Given the description of an element on the screen output the (x, y) to click on. 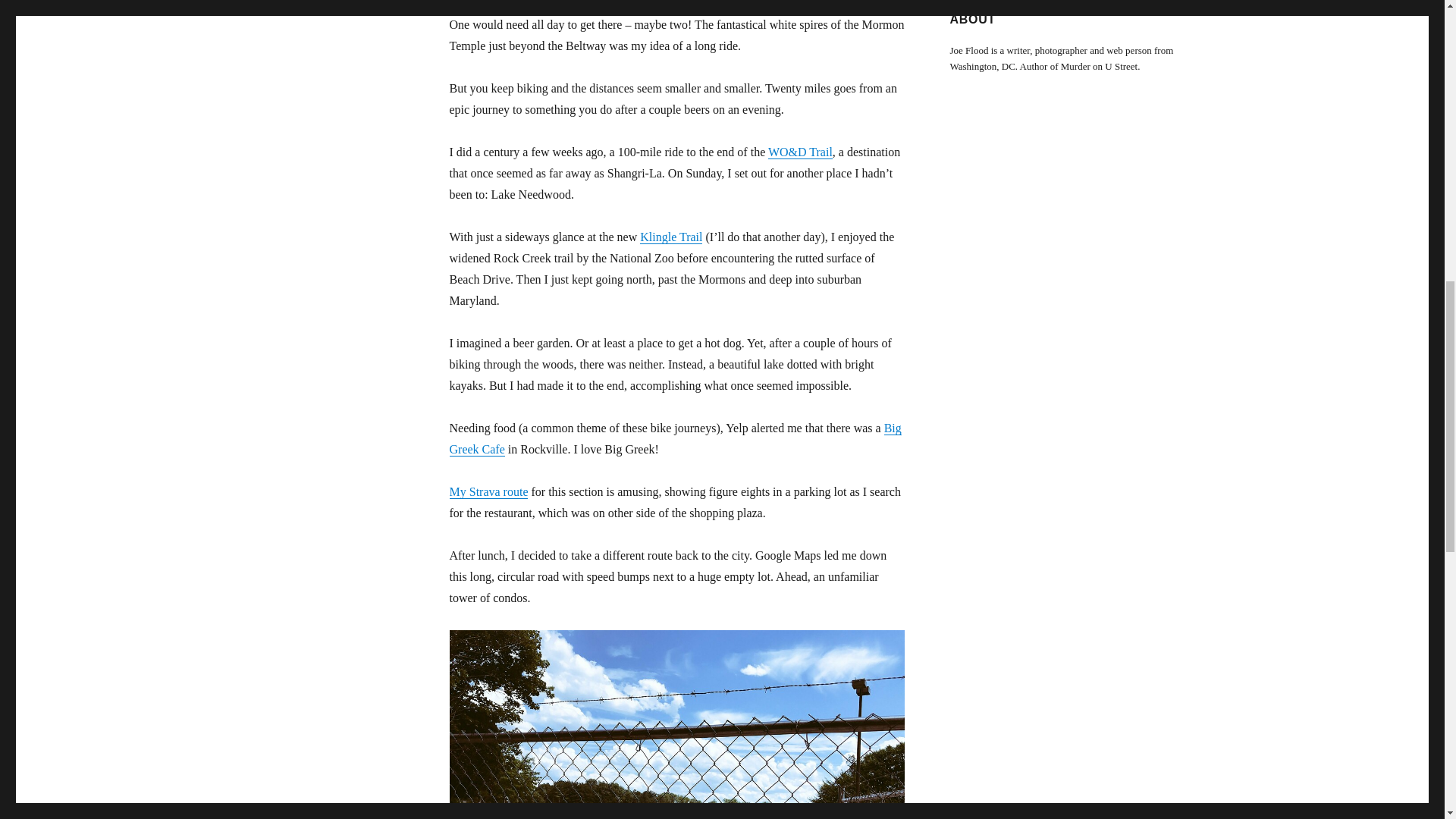
remains of the White Flint Mall (676, 724)
Klingle Trail (670, 236)
My Strava route (487, 491)
Big Greek Cafe (674, 438)
